Given the description of an element on the screen output the (x, y) to click on. 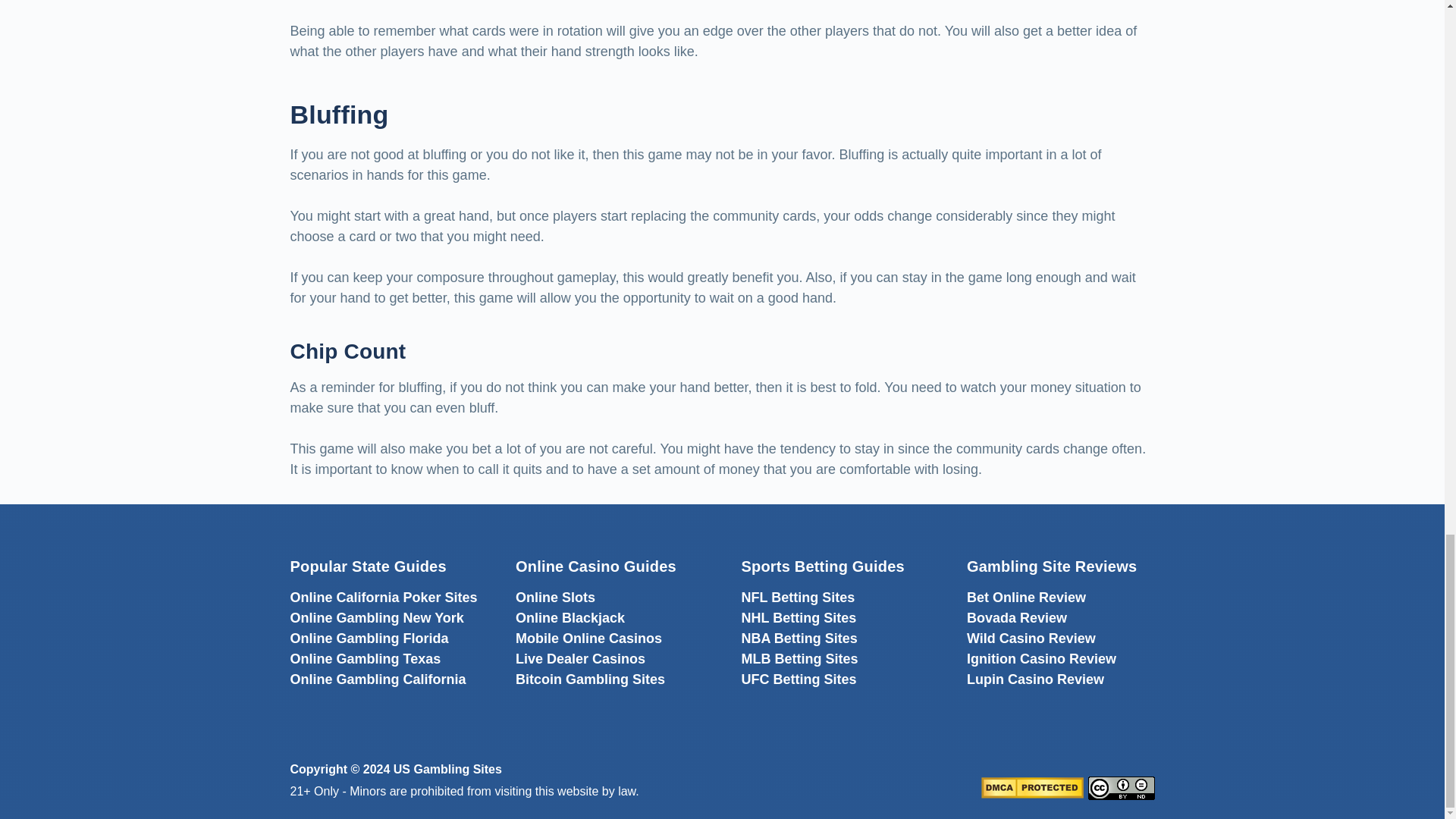
Online California Poker Sites (383, 597)
Online Gambling New York (376, 617)
DMCA.com Protection Status (1032, 786)
